Given the description of an element on the screen output the (x, y) to click on. 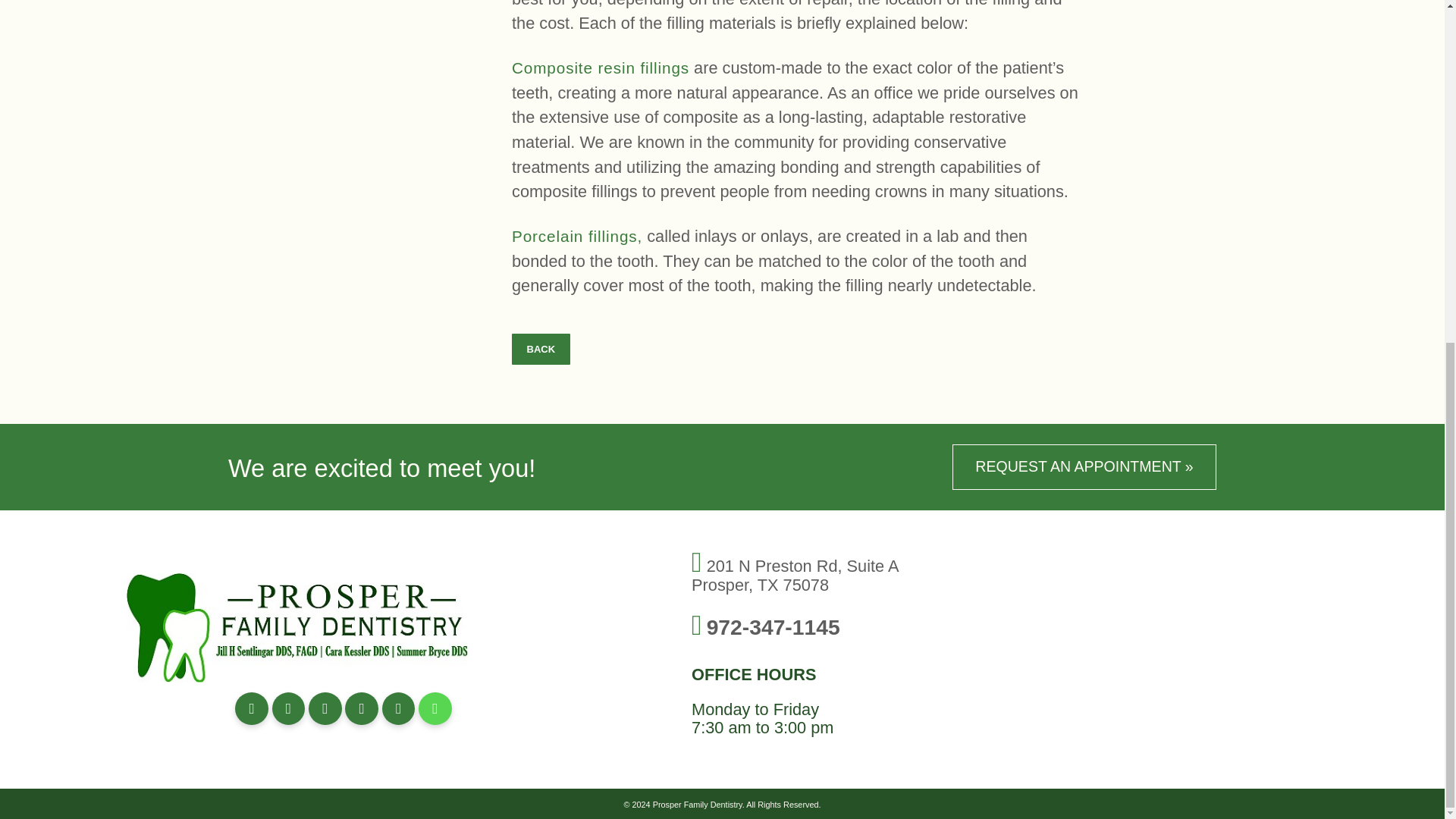
BACK (541, 348)
201 N Preston Rd, Suite A Prosper, TX 75078 (794, 575)
972-347-1145 (773, 627)
